Given the description of an element on the screen output the (x, y) to click on. 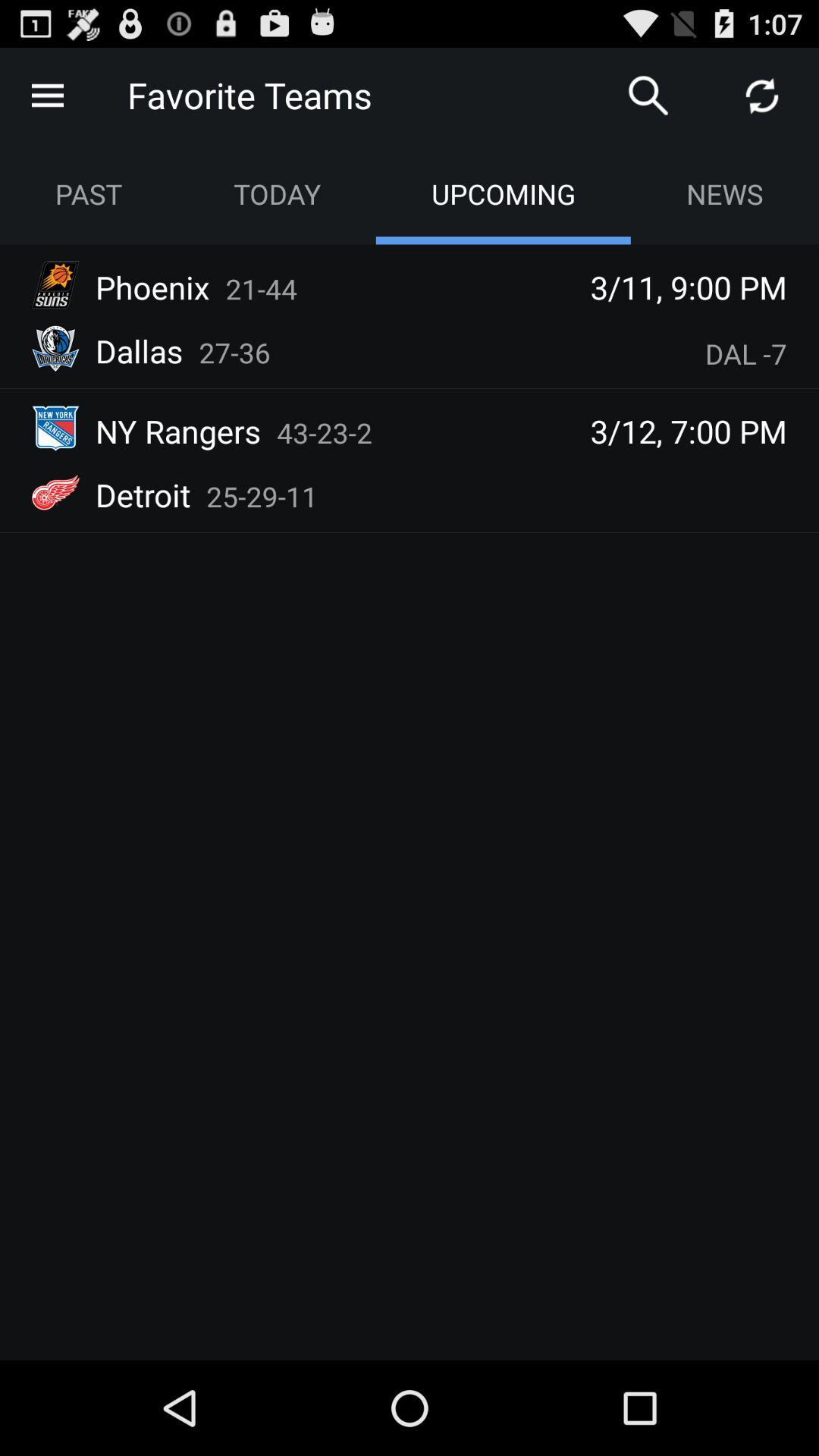
refresh the page (762, 95)
